Given the description of an element on the screen output the (x, y) to click on. 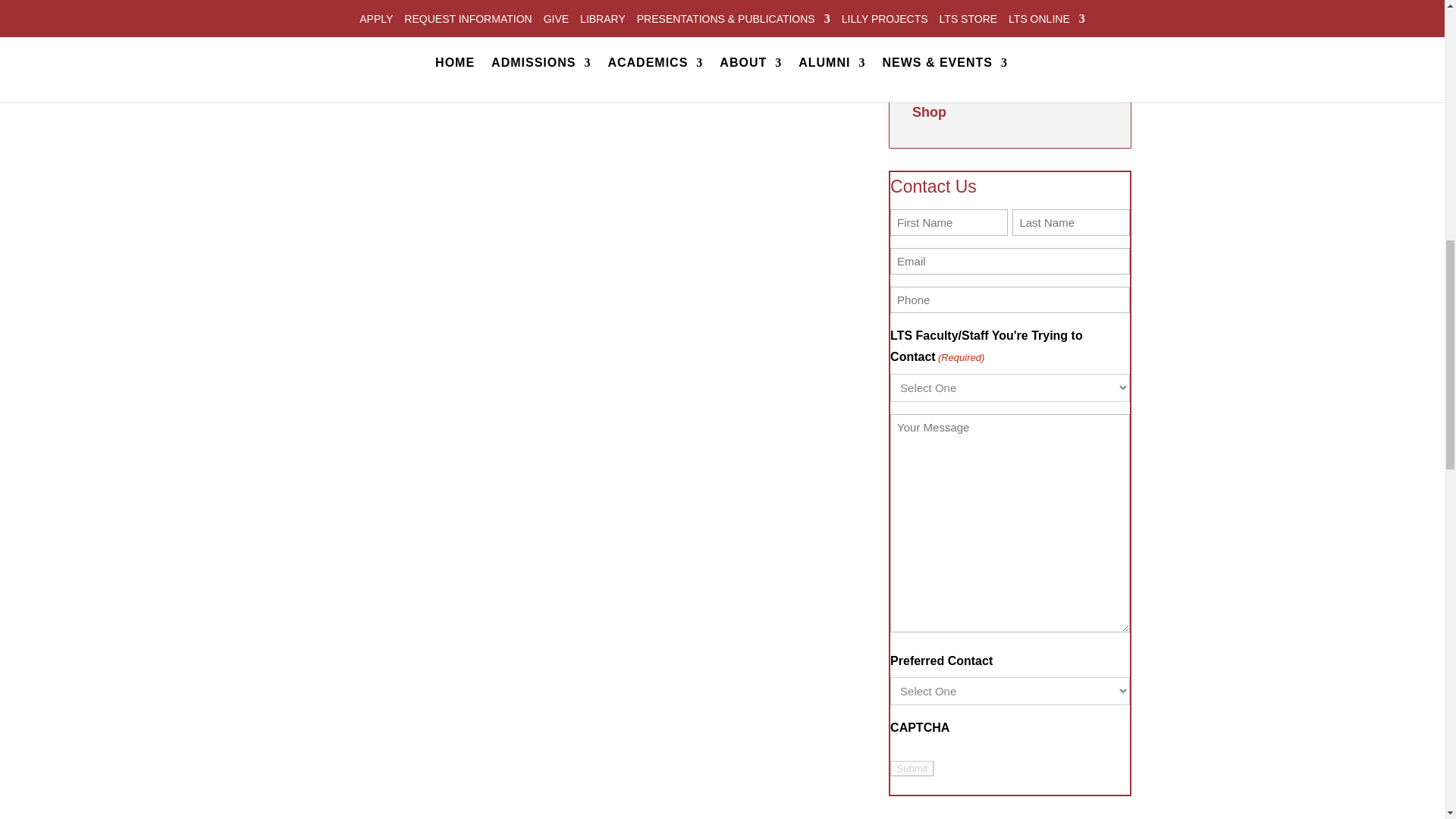
Submit (911, 768)
